Given the description of an element on the screen output the (x, y) to click on. 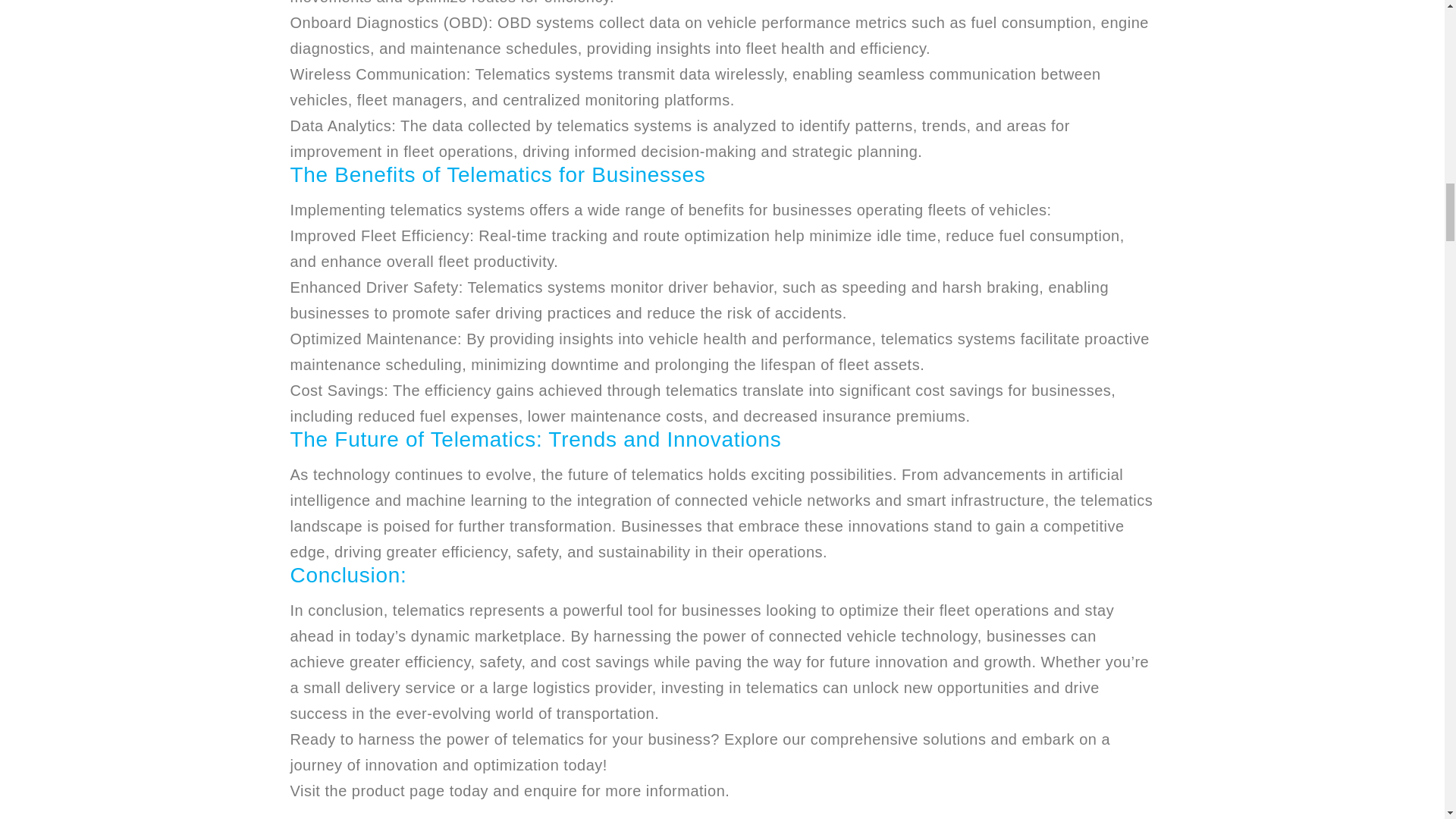
product page (398, 790)
